Given the description of an element on the screen output the (x, y) to click on. 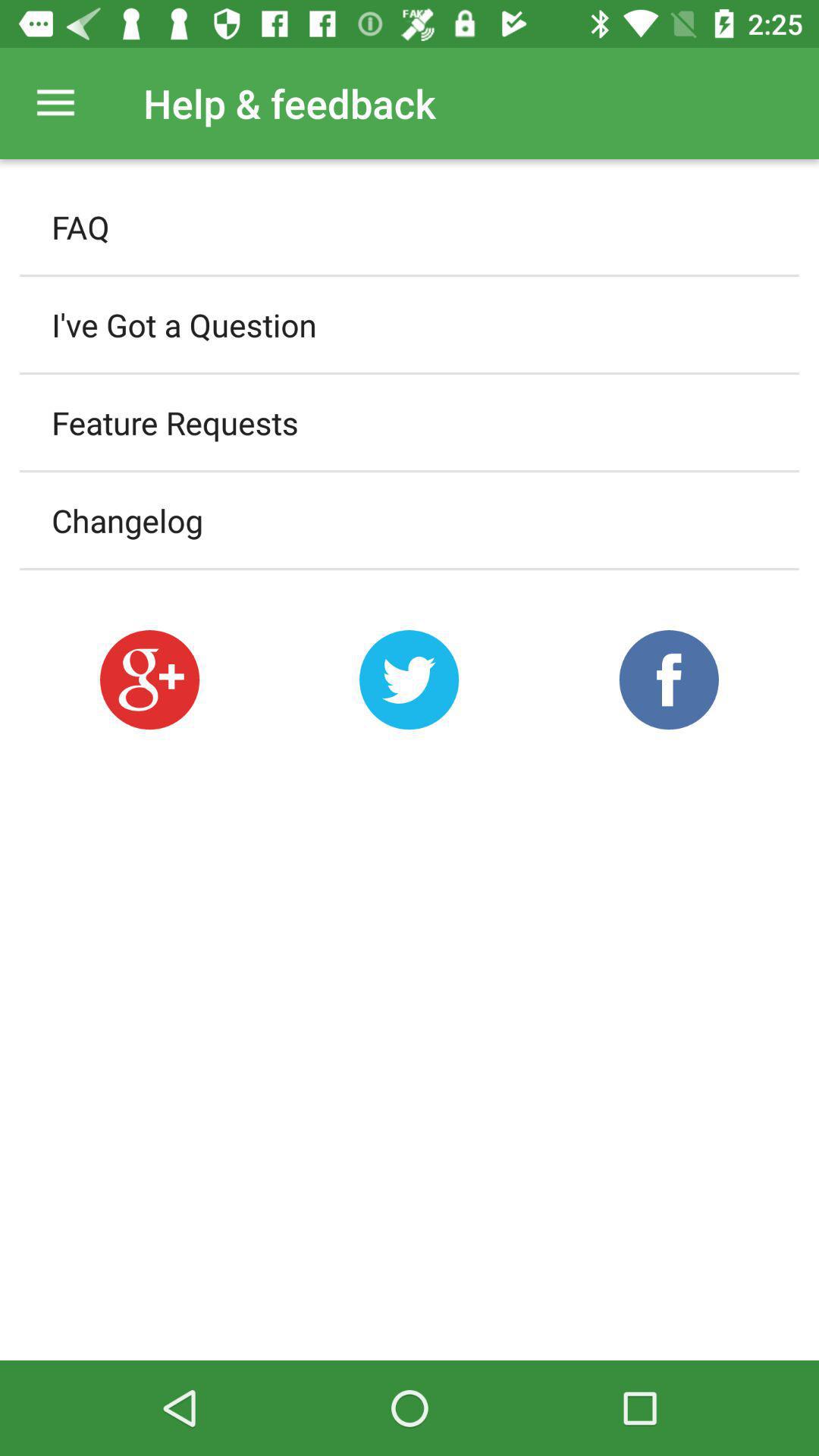
scroll to the feature requests (409, 422)
